Given the description of an element on the screen output the (x, y) to click on. 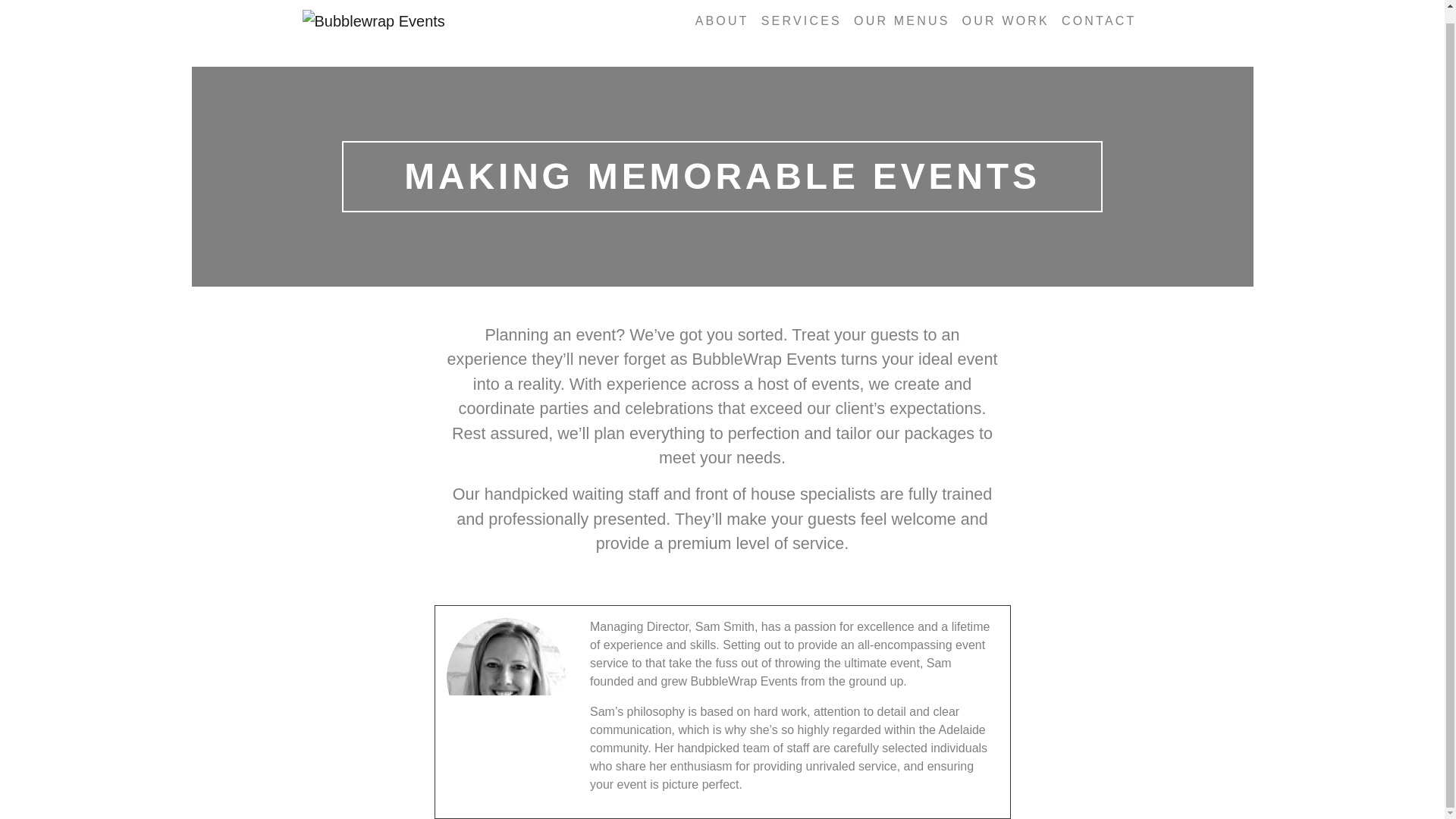
ABOUT (721, 11)
OUR WORK (1005, 11)
CONTACT (1098, 11)
SERVICES (801, 11)
OUR MENUS (901, 11)
